Given the description of an element on the screen output the (x, y) to click on. 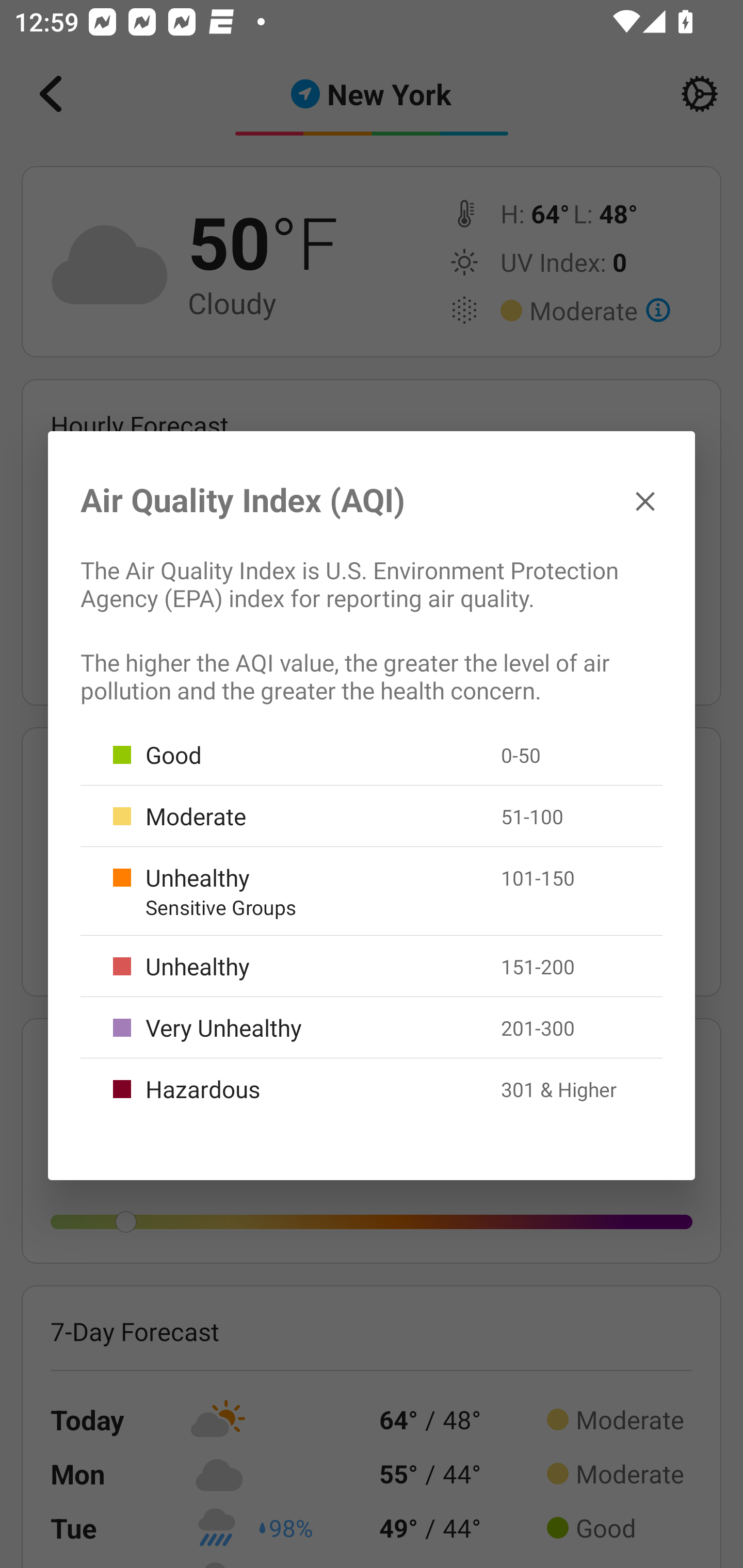
✕ (644, 499)
